Given the description of an element on the screen output the (x, y) to click on. 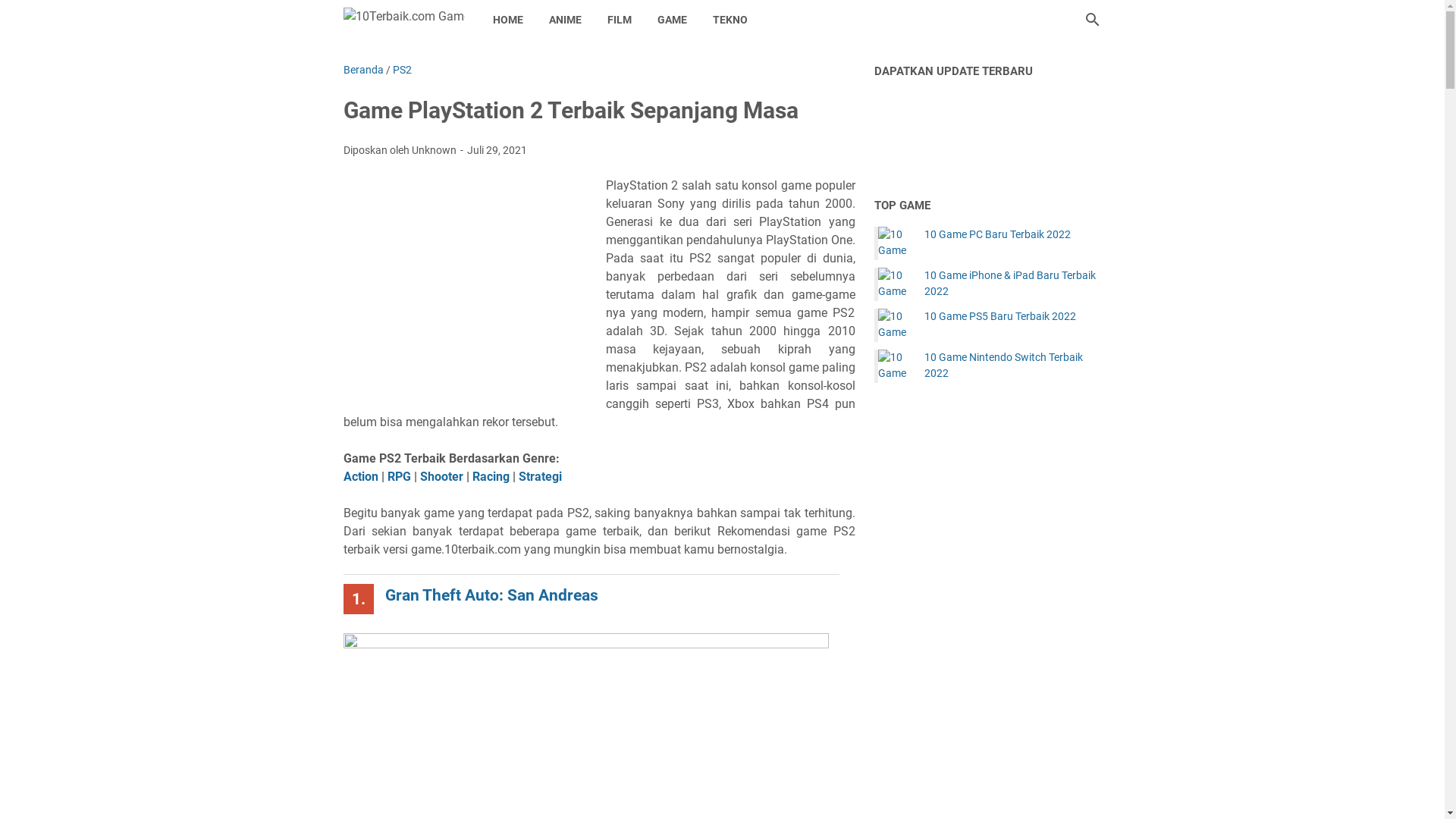
10 Game iPhone & iPad Baru Terbaik 2022 Element type: text (1012, 283)
Gran Theft Auto: San Andreas Element type: text (491, 595)
10 Game PS5 Baru Terbaik 2022 Element type: text (999, 316)
GAME Element type: text (671, 19)
10 Game Nintendo Switch Terbaik 2022 Element type: hover (894, 365)
Advertisement Element type: hover (474, 286)
Strategi Element type: text (539, 476)
10 Game Nintendo Switch Terbaik 2022 Element type: text (1012, 365)
Racing Element type: text (489, 476)
FILM Element type: text (619, 19)
10 Game iPhone & iPad Baru Terbaik 2022 Element type: hover (894, 284)
Shooter Element type: text (441, 476)
Action Element type: text (359, 476)
10 Game PC Baru Terbaik 2022 Element type: hover (894, 243)
10Terbaik.com Game Element type: hover (403, 19)
10 Game PS5 Baru Terbaik 2022 Element type: hover (894, 325)
ANIME Element type: text (564, 19)
Cari blog ini Element type: hover (1091, 19)
10 Game PC Baru Terbaik 2022 Element type: text (996, 234)
TEKNO Element type: text (729, 19)
RPG Element type: text (398, 476)
HOME Element type: text (507, 19)
Beranda Element type: text (362, 69)
PS2 Element type: text (401, 69)
